Given the description of an element on the screen output the (x, y) to click on. 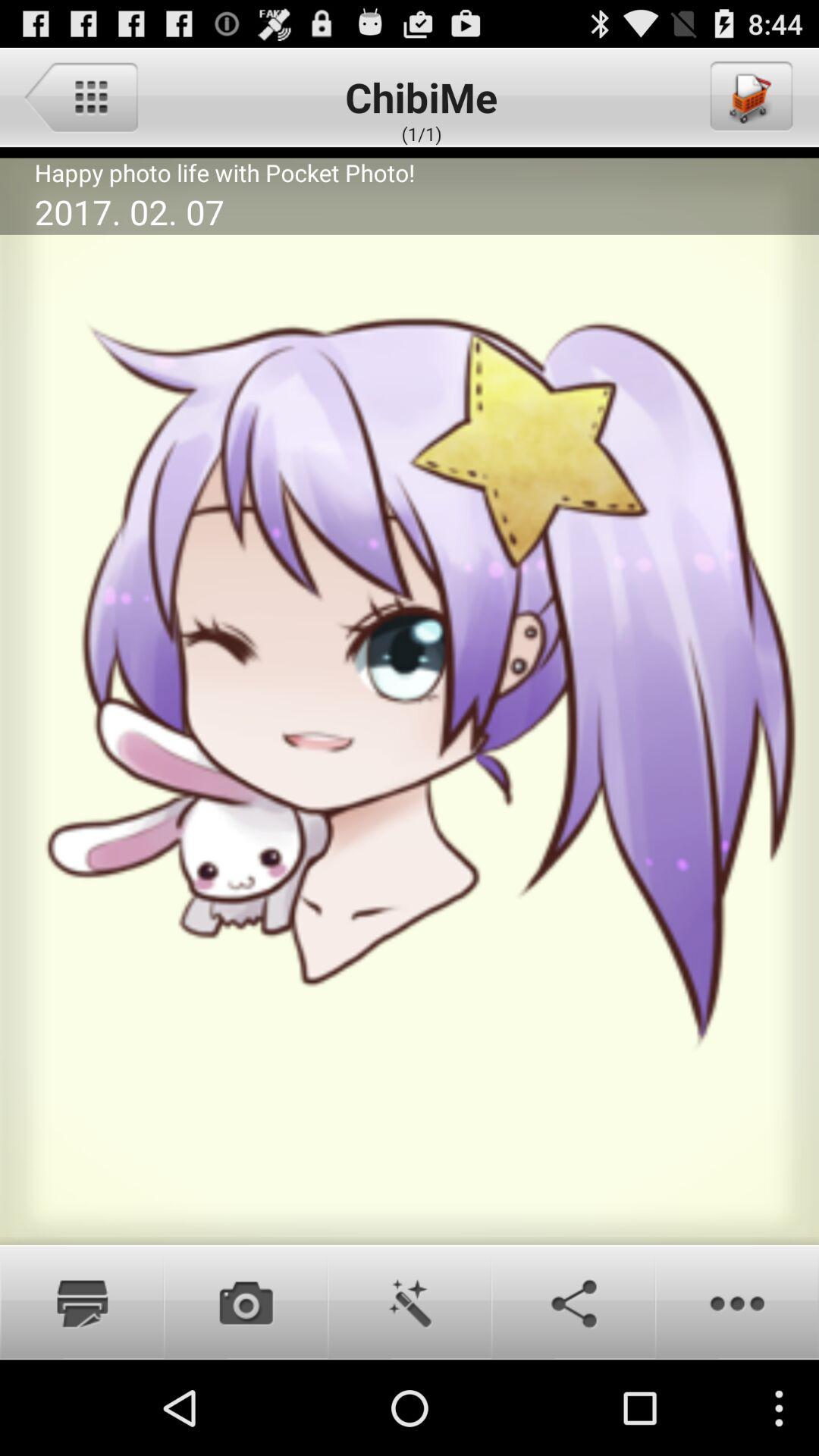
select the item to the left of chibime item (80, 96)
